Given the description of an element on the screen output the (x, y) to click on. 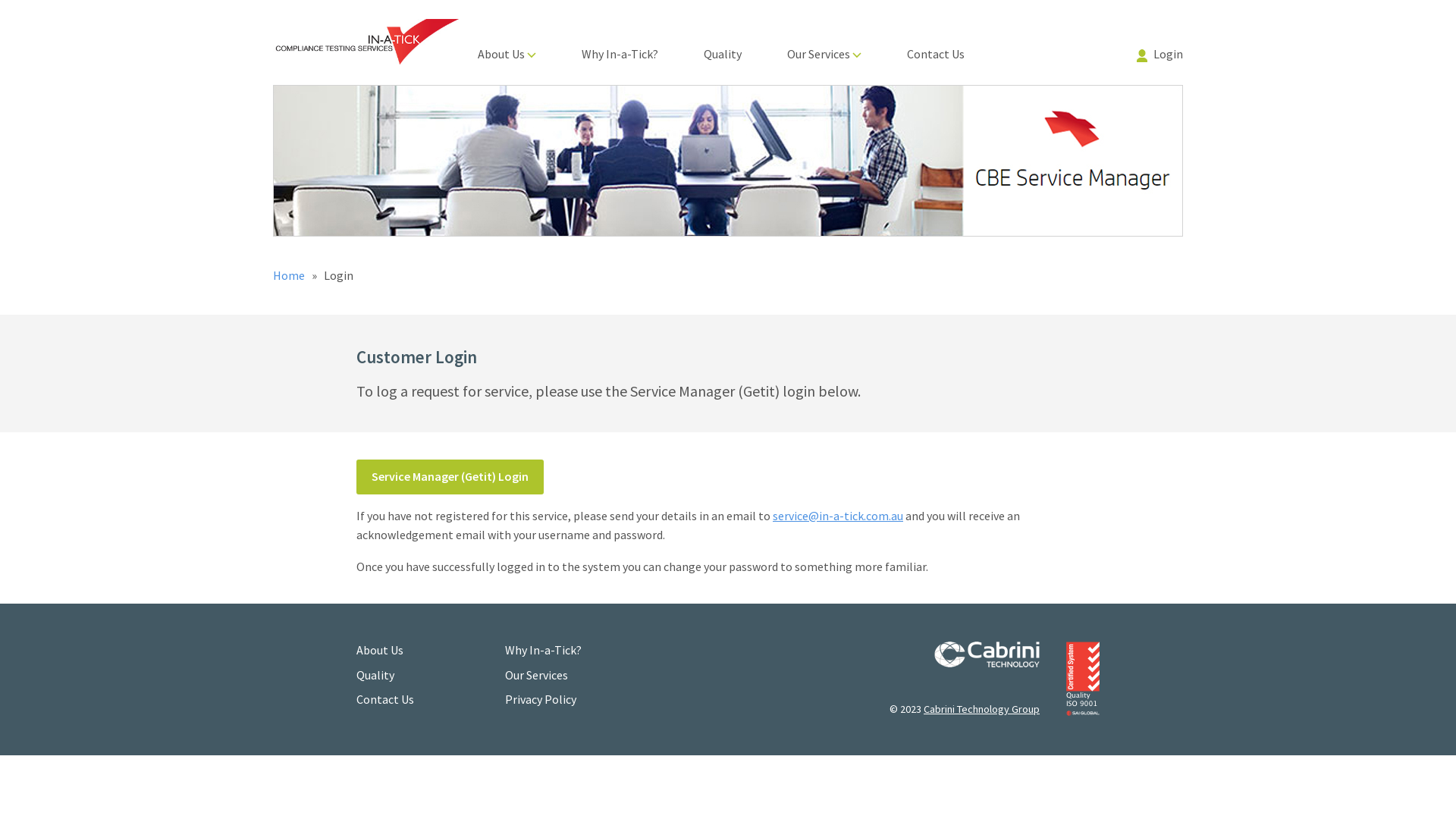
Privacy Policy Element type: text (540, 698)
service@in-a-tick.com.au Element type: text (837, 515)
Our Services Element type: text (823, 42)
Contact Us Element type: text (935, 42)
Login Element type: text (1152, 42)
About Us Element type: text (506, 42)
Home Element type: text (290, 274)
Why In-a-Tick? Element type: text (619, 42)
Service Manager (Getit) Login Element type: text (449, 476)
About Us Element type: text (379, 649)
Why In-a-Tick? Element type: text (543, 649)
Quality Element type: text (375, 674)
Cabrini Technology Group Element type: text (981, 708)
Contact Us Element type: text (385, 698)
Our Services Element type: text (536, 674)
Quality Element type: text (722, 42)
